Given the description of an element on the screen output the (x, y) to click on. 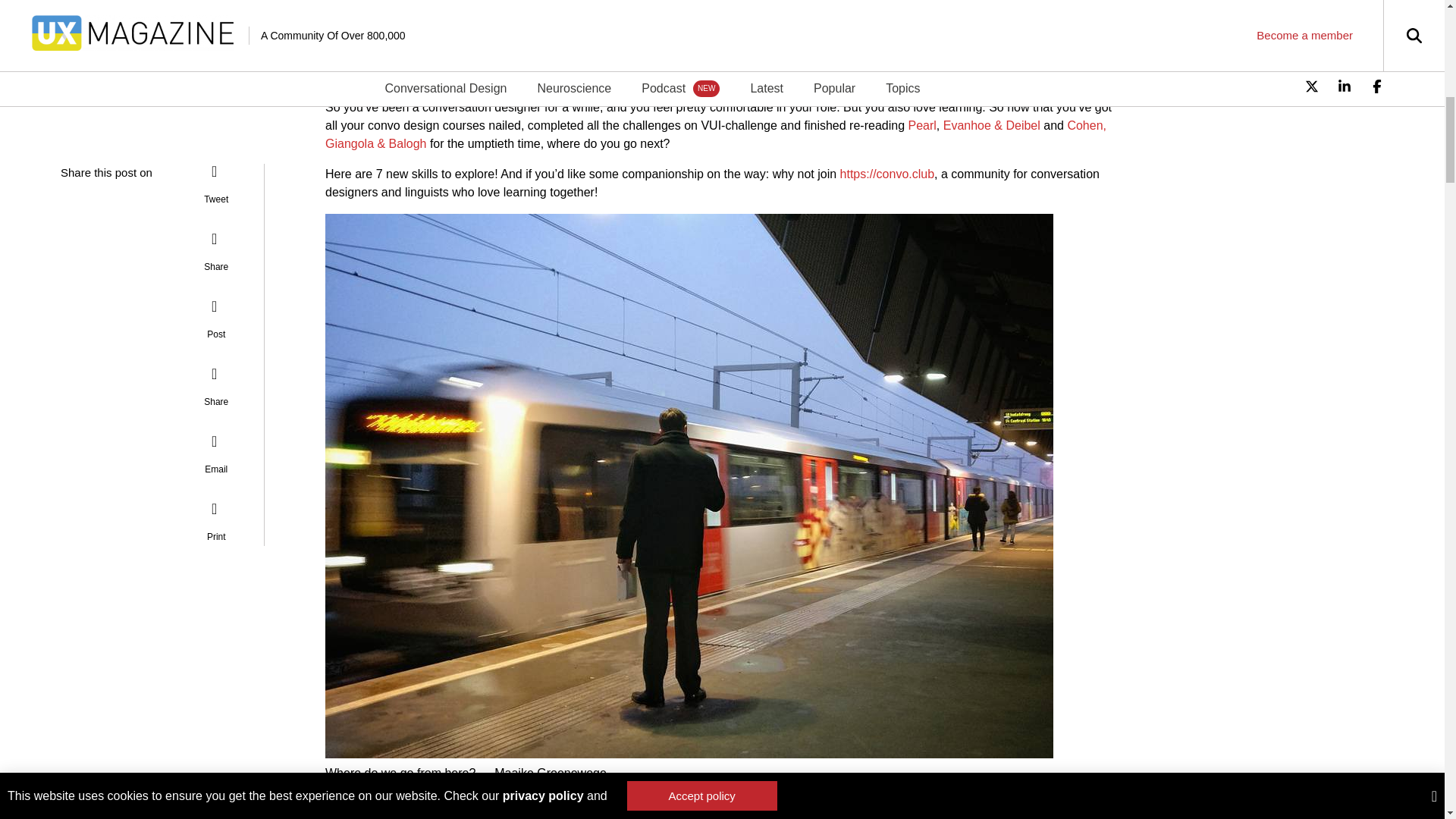
Pearl (921, 124)
